Given the description of an element on the screen output the (x, y) to click on. 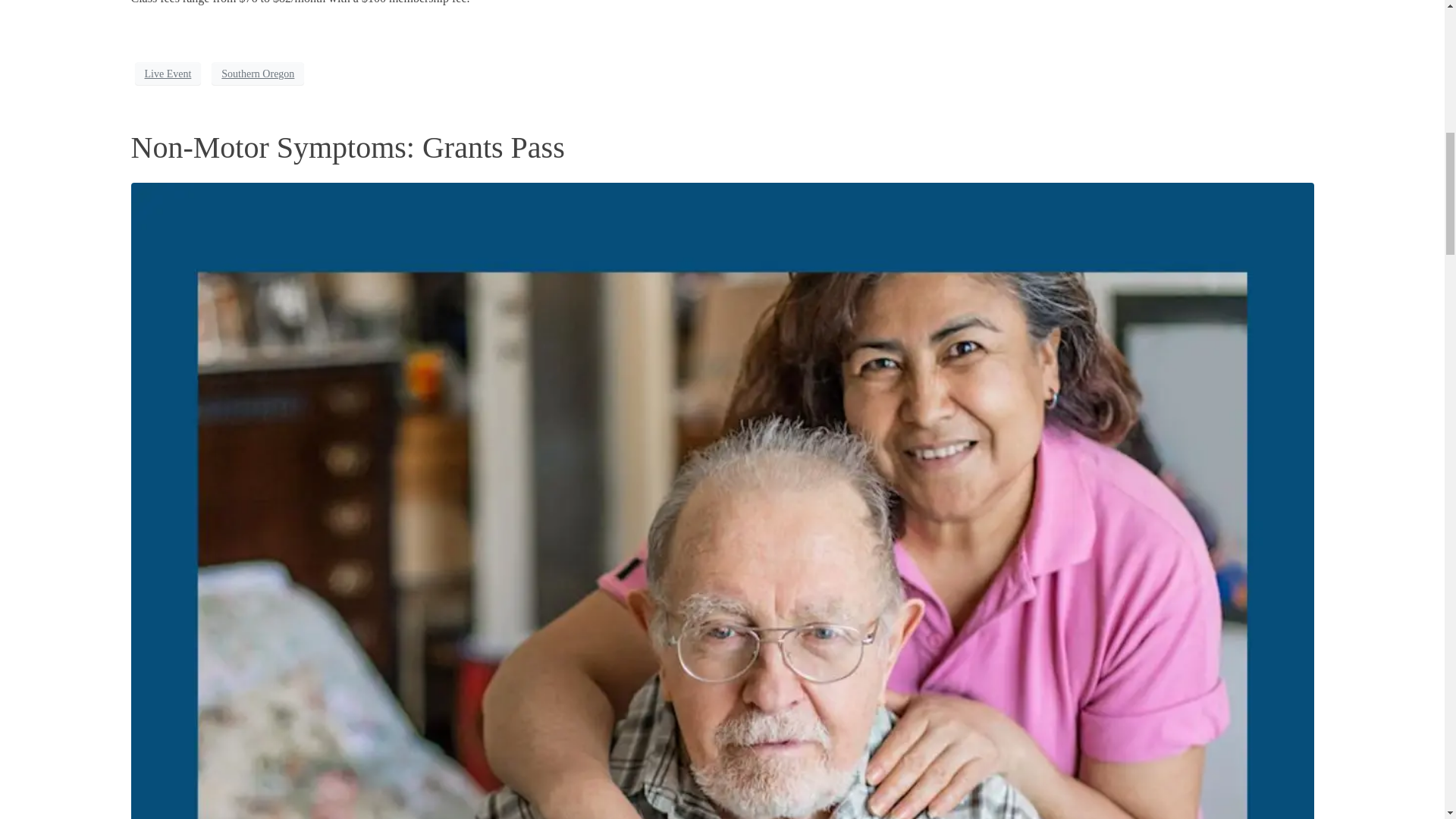
Non-Motor Symptoms: Grants Pass (347, 147)
